Given the description of an element on the screen output the (x, y) to click on. 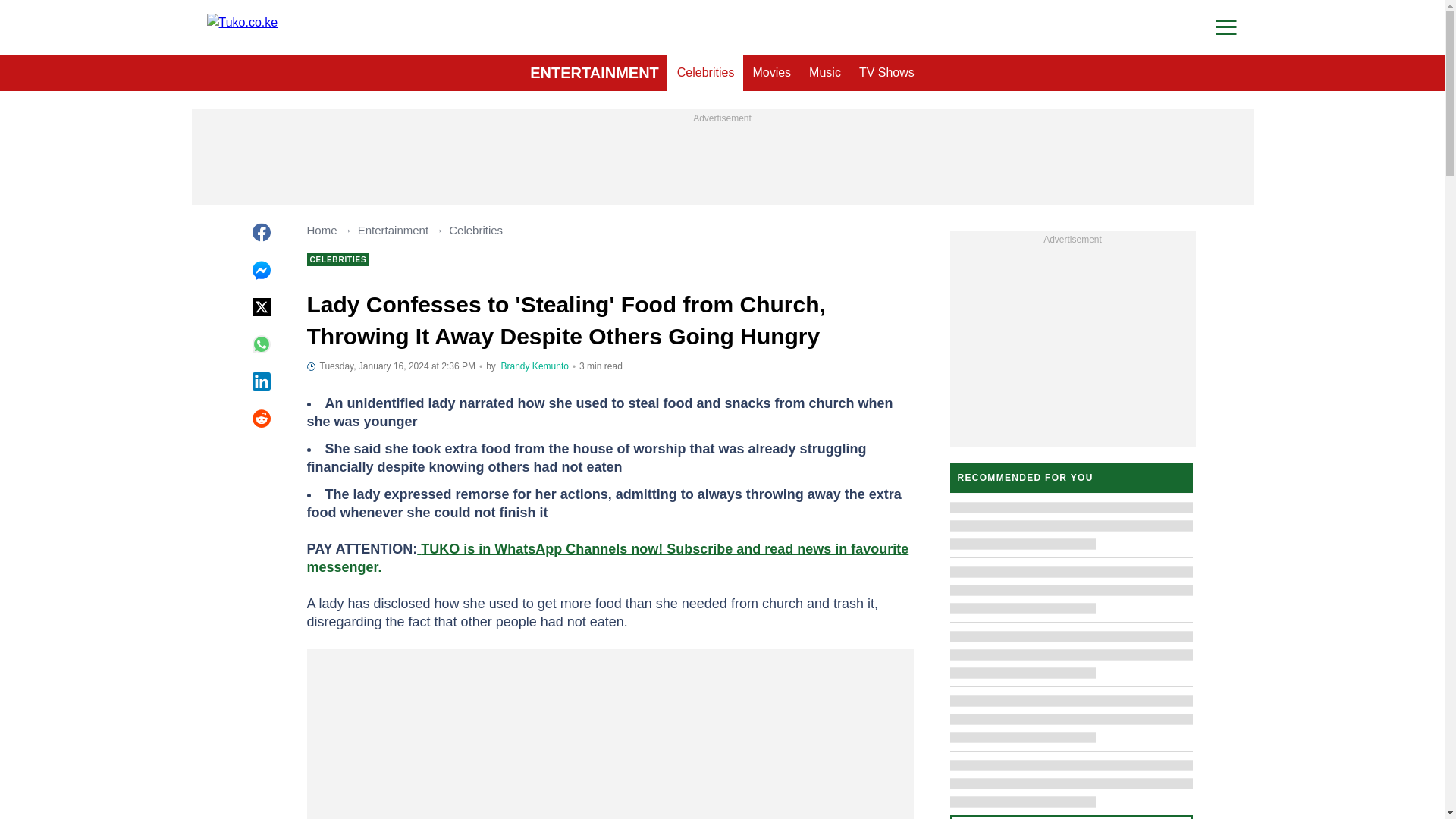
Music (824, 72)
ENTERTAINMENT (594, 72)
TV Shows (886, 72)
Movies (770, 72)
Author page (534, 366)
Celebrities (706, 72)
